Given the description of an element on the screen output the (x, y) to click on. 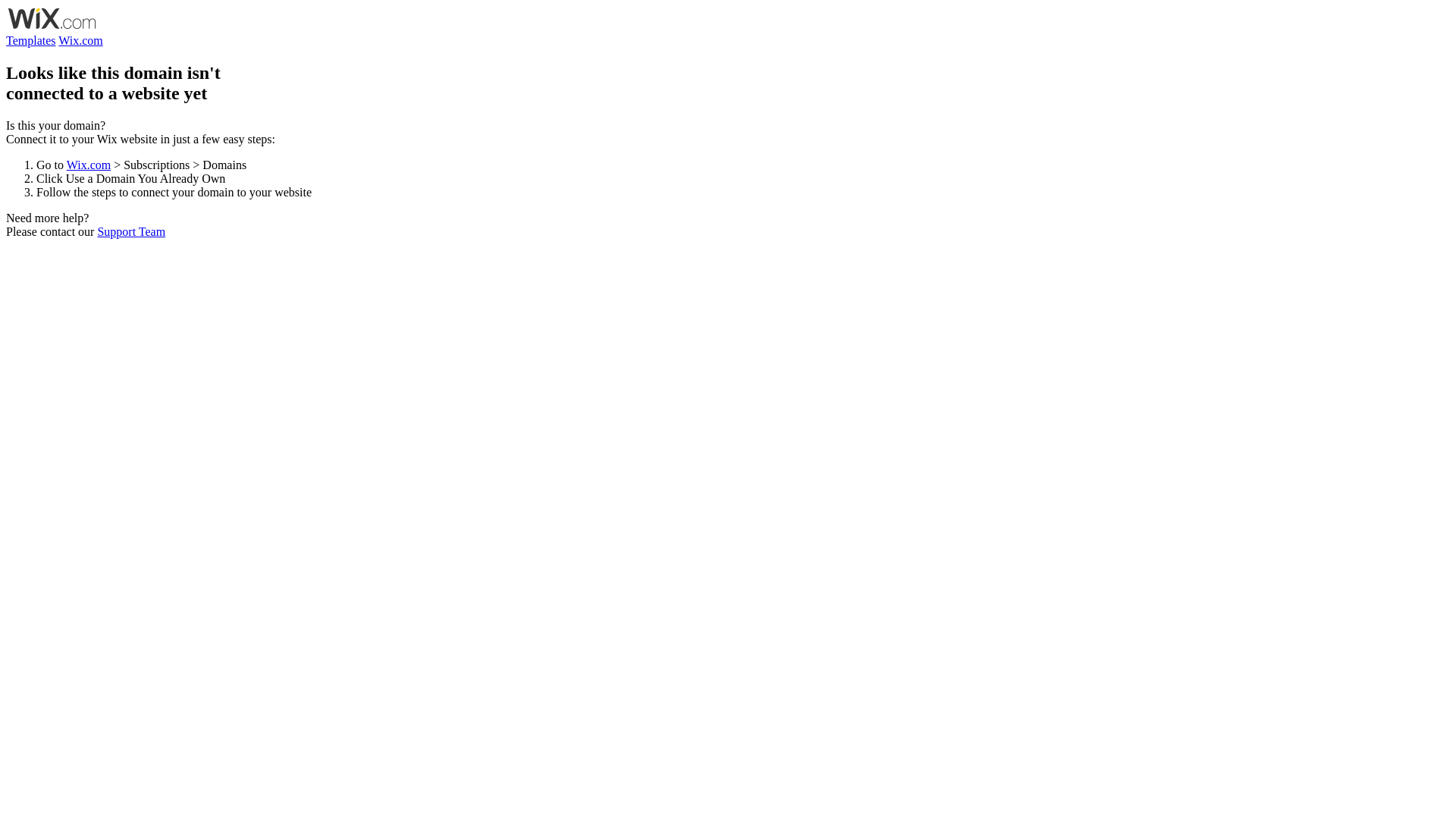
Wix.com Element type: text (88, 164)
Templates Element type: text (31, 40)
Support Team Element type: text (131, 231)
Wix.com Element type: text (80, 40)
